Given the description of an element on the screen output the (x, y) to click on. 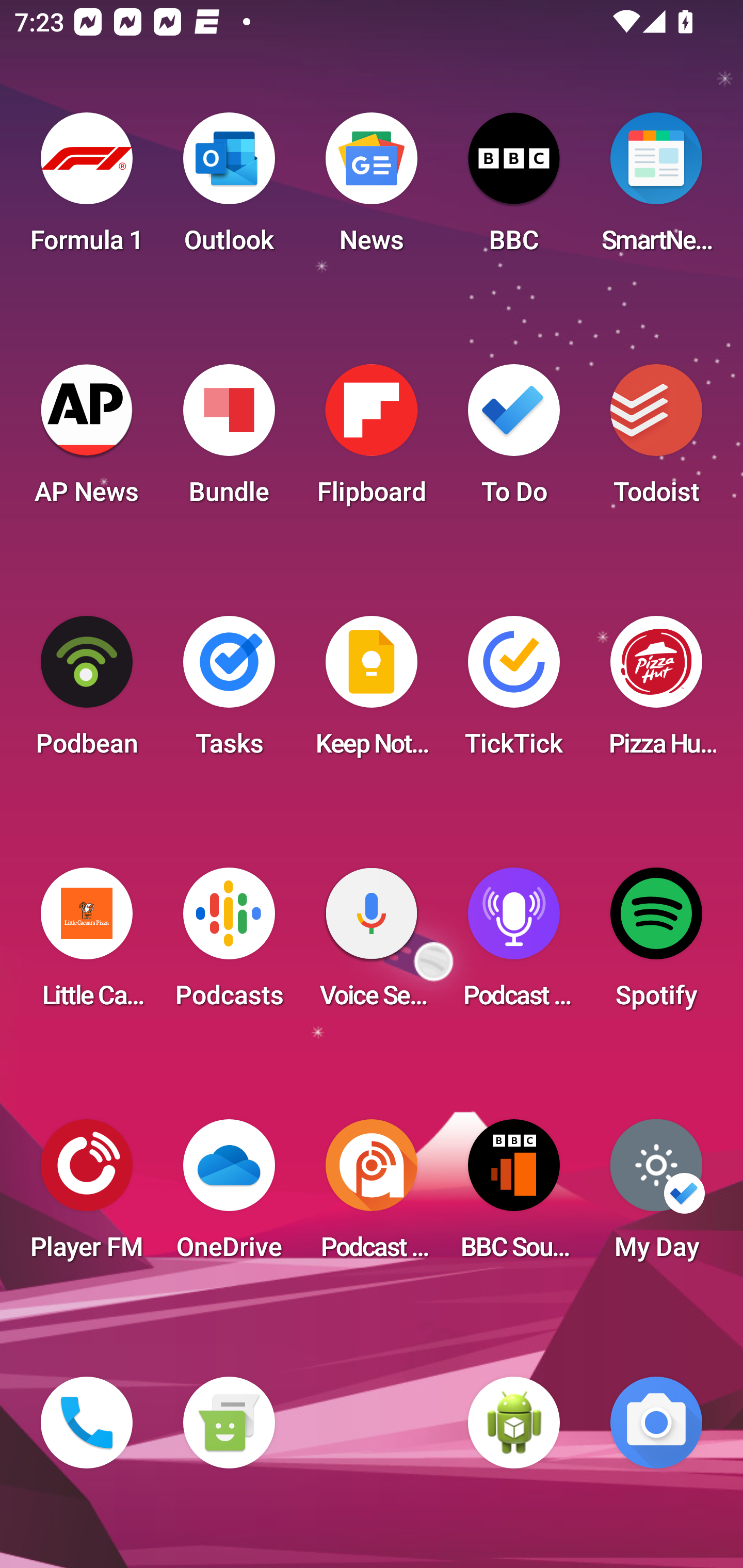
Formula 1 (86, 188)
Outlook (228, 188)
News (371, 188)
BBC (513, 188)
SmartNews (656, 188)
AP News (86, 440)
Bundle (228, 440)
Flipboard (371, 440)
To Do (513, 440)
Todoist (656, 440)
Podbean (86, 692)
Tasks (228, 692)
Keep Notes (371, 692)
TickTick (513, 692)
Pizza Hut HK & Macau (656, 692)
Little Caesars Pizza (86, 943)
Podcasts (228, 943)
Voice Search (371, 943)
Podcast Player (513, 943)
Spotify (656, 943)
Player FM (86, 1195)
OneDrive (228, 1195)
Podcast Addict (371, 1195)
BBC Sounds (513, 1195)
My Day (656, 1195)
Phone (86, 1422)
Messaging (228, 1422)
WebView Browser Tester (513, 1422)
Camera (656, 1422)
